Given the description of an element on the screen output the (x, y) to click on. 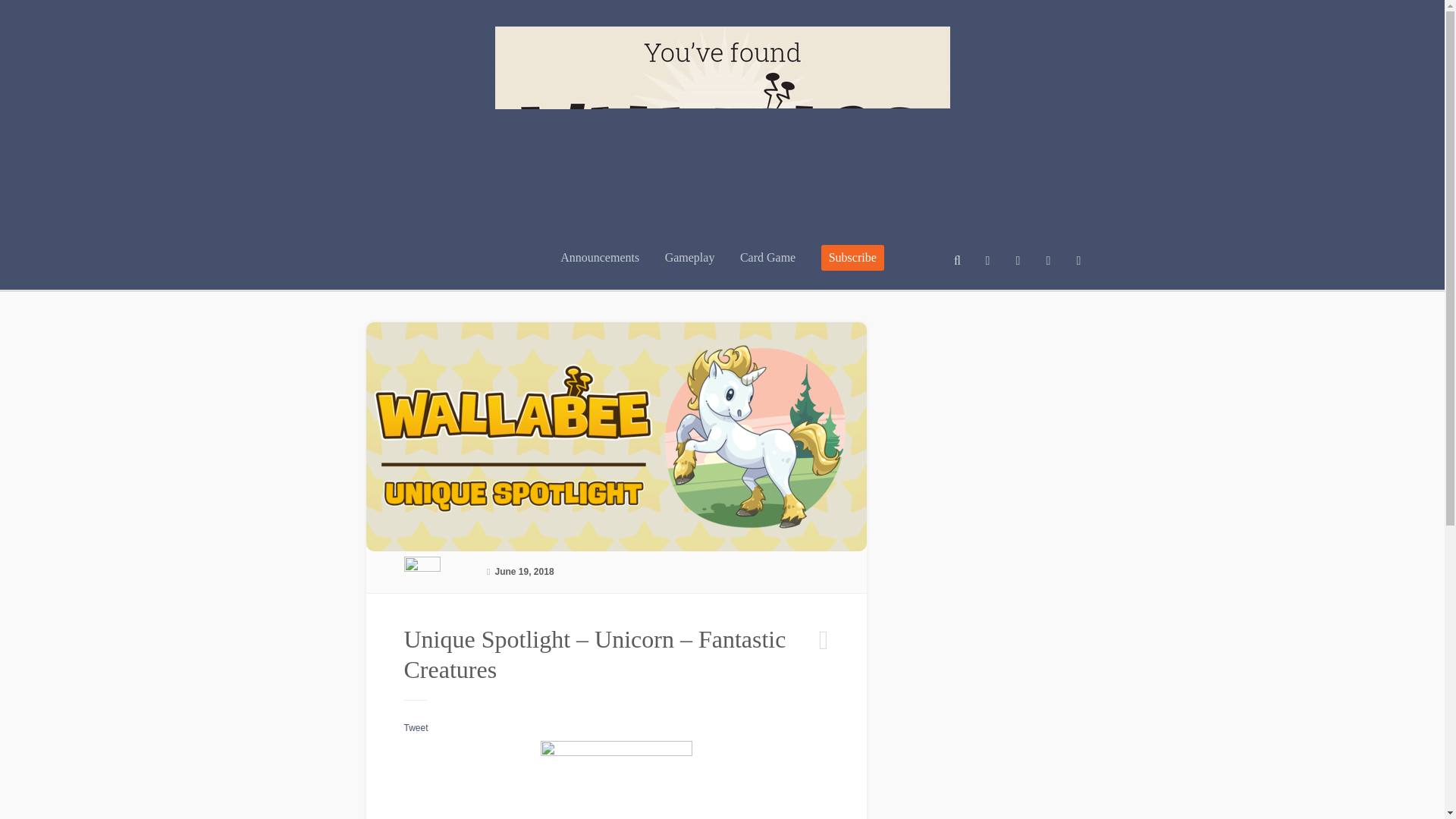
Announcements (599, 269)
Subscribe (852, 257)
Gameplay (689, 269)
Card Game (766, 269)
Tweet (415, 727)
